Given the description of an element on the screen output the (x, y) to click on. 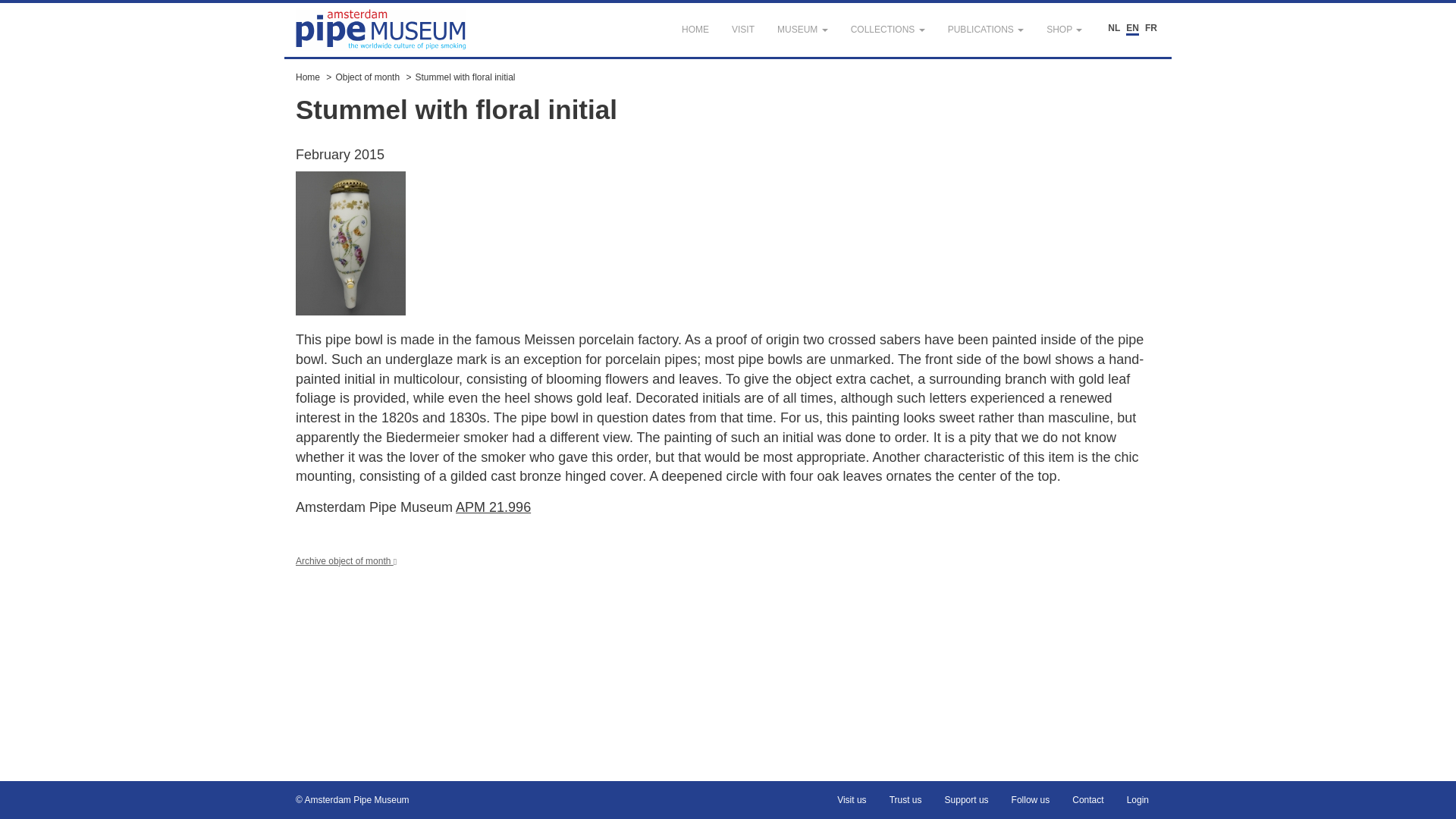
EN (1131, 29)
MUSEUM (802, 29)
NL (1113, 29)
HOME (694, 29)
FR (1150, 29)
SHOP (1064, 29)
NL (1113, 29)
PUBLICATIONS (985, 29)
Archive object of month (345, 561)
COLLECTIONS (888, 29)
